Given the description of an element on the screen output the (x, y) to click on. 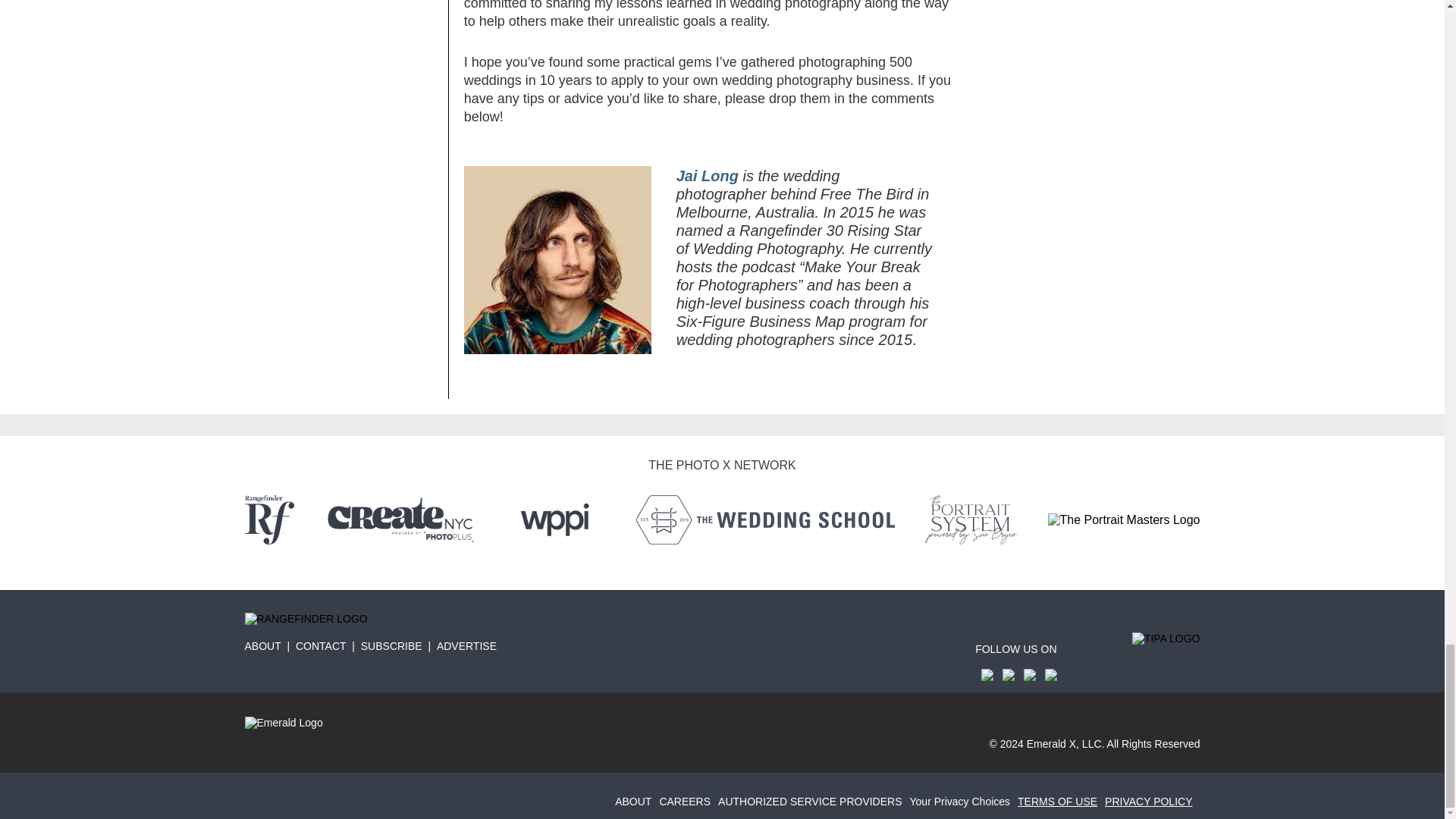
terms-of-use (1061, 801)
careers (688, 801)
about (636, 801)
your-privacy-choices (963, 801)
authorized-service-providers (812, 801)
privacy-policy (1152, 801)
